Given the description of an element on the screen output the (x, y) to click on. 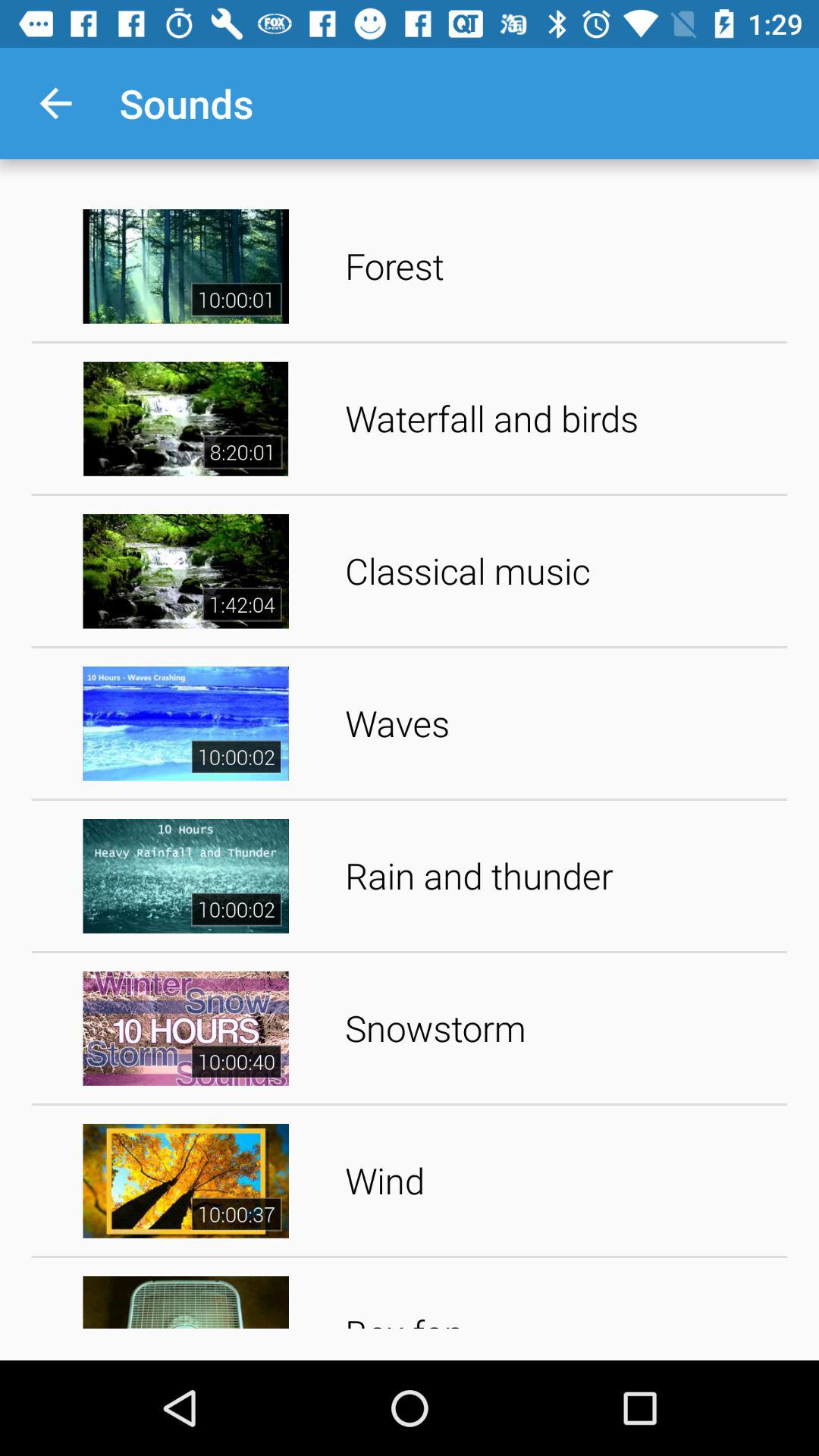
turn on the icon above the box fan (560, 1180)
